Given the description of an element on the screen output the (x, y) to click on. 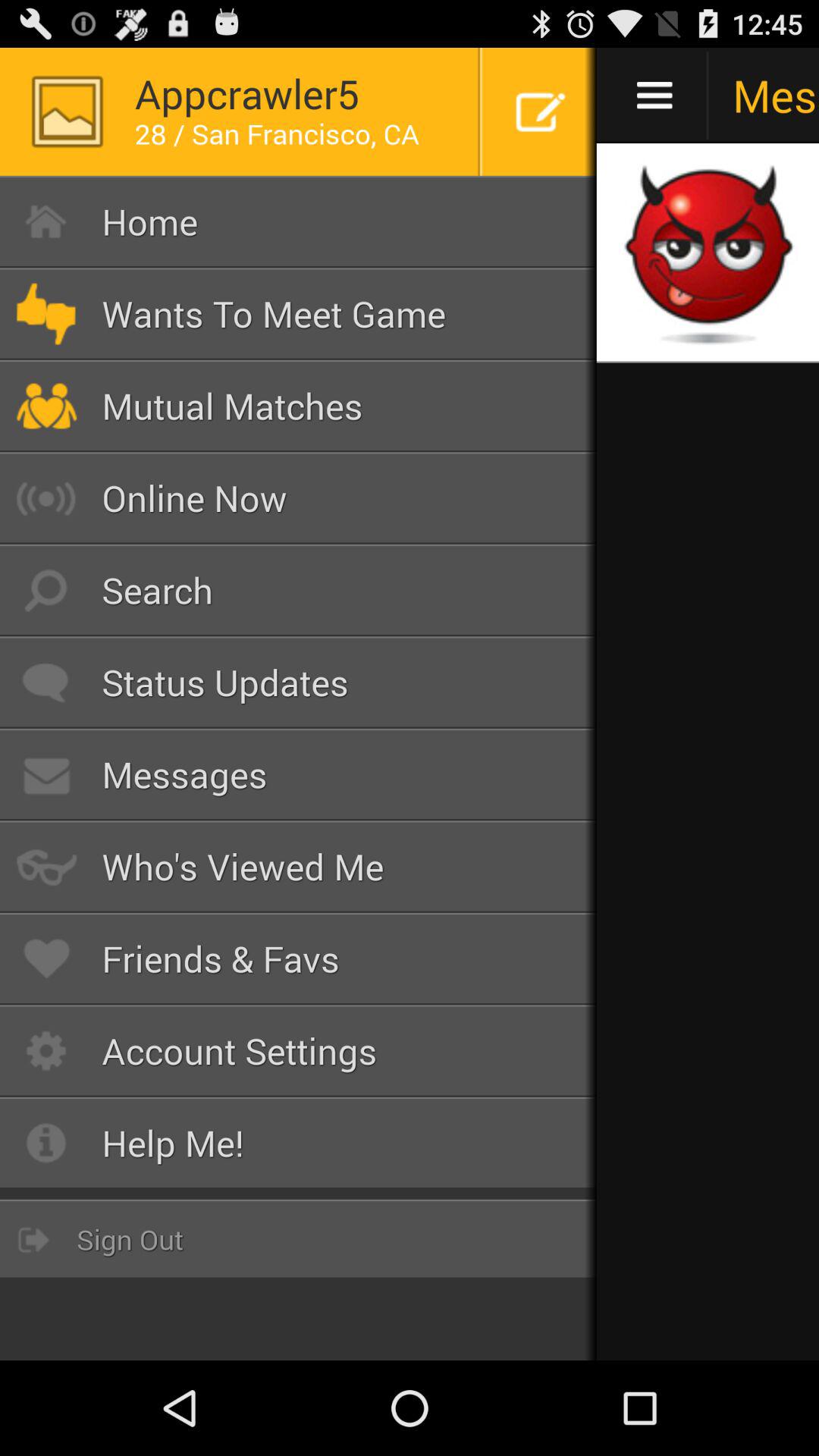
open the button above the status updates button (298, 590)
